Given the description of an element on the screen output the (x, y) to click on. 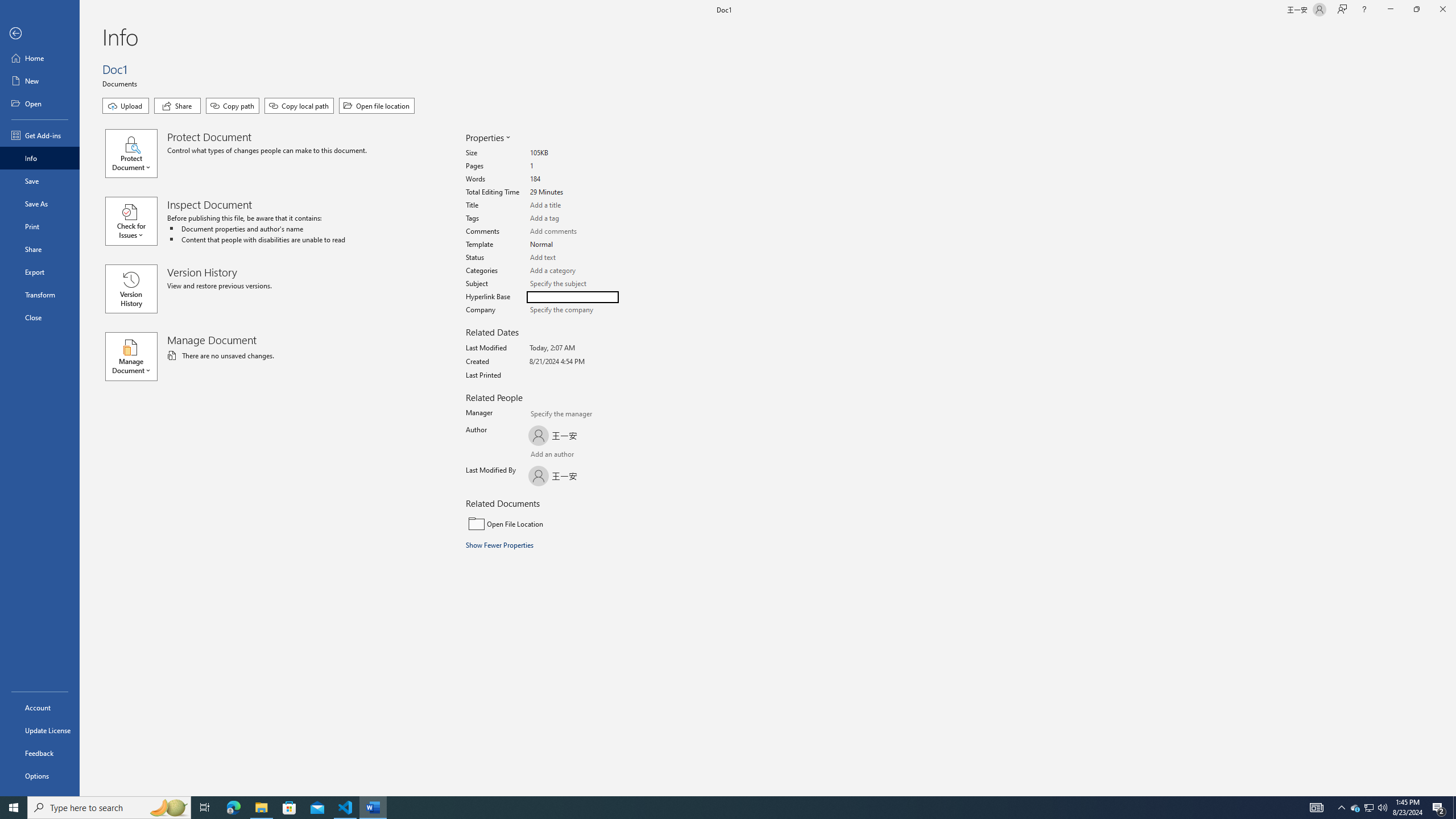
Tags (572, 218)
Update License (40, 730)
Help (1364, 9)
Minimize (1390, 9)
Show Fewer Properties (499, 544)
Specify the manager (540, 414)
Title (572, 205)
Properties (486, 137)
Export (40, 271)
Get Add-ins (40, 134)
Restore Down (1416, 9)
Status (572, 257)
Verify Names (559, 454)
Total Editing Time (572, 192)
